Given the description of an element on the screen output the (x, y) to click on. 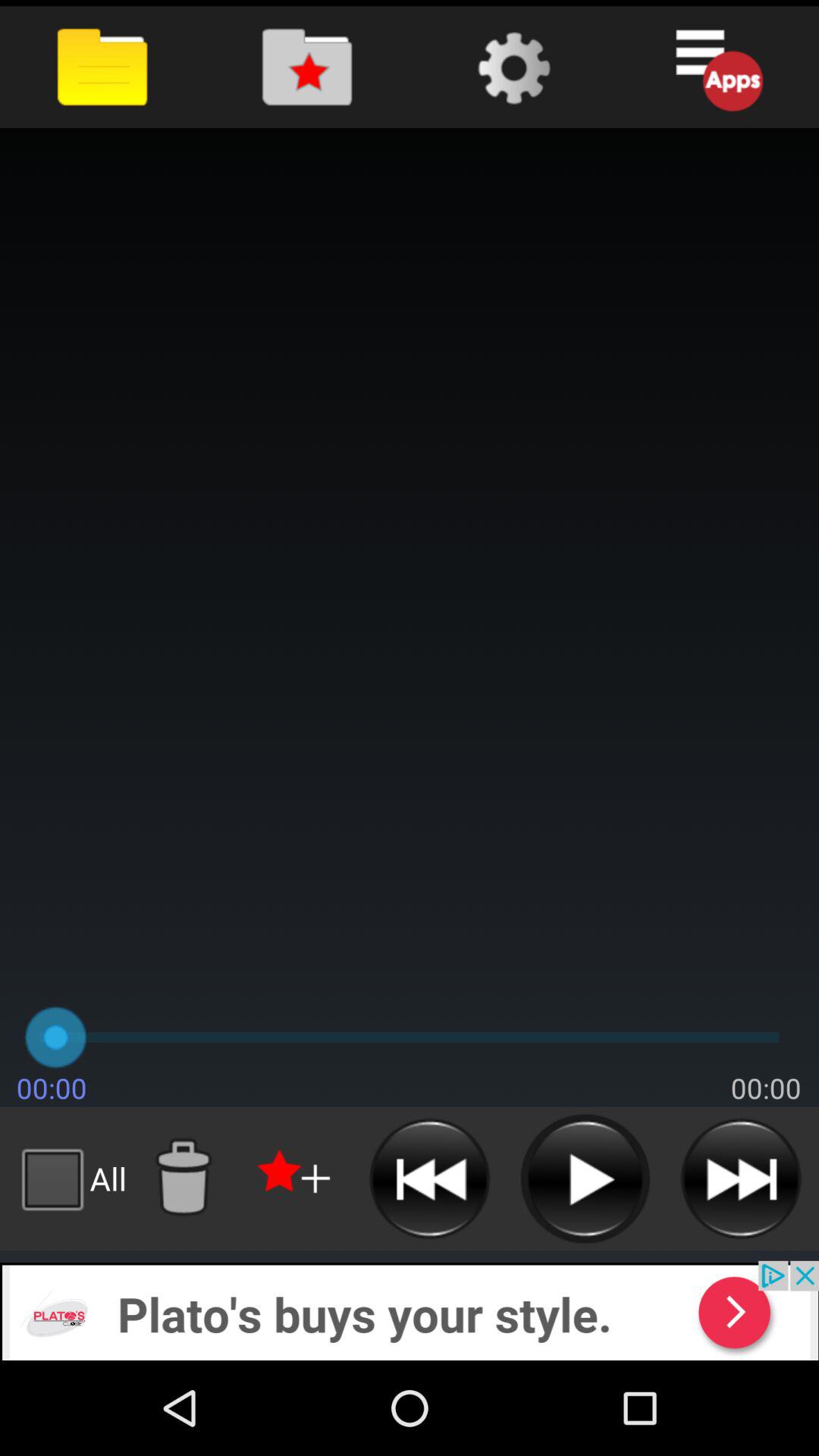
favorite folder switch option (307, 66)
